Given the description of an element on the screen output the (x, y) to click on. 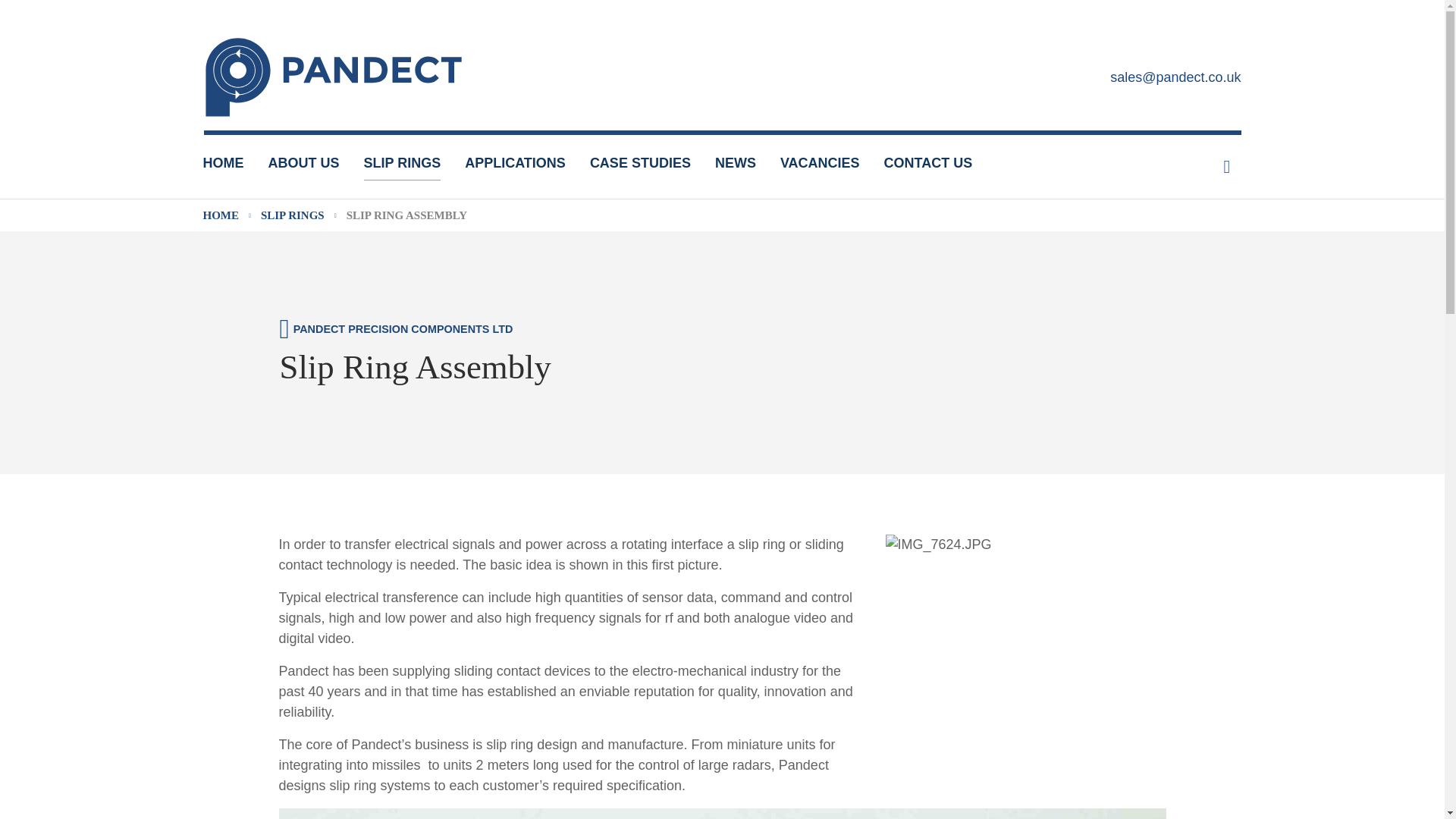
SLIP RINGS (402, 163)
APPLICATIONS (515, 163)
HOME (223, 163)
ABOUT US (303, 163)
1125?.ShortCompanyName homepage (333, 76)
